Given the description of an element on the screen output the (x, y) to click on. 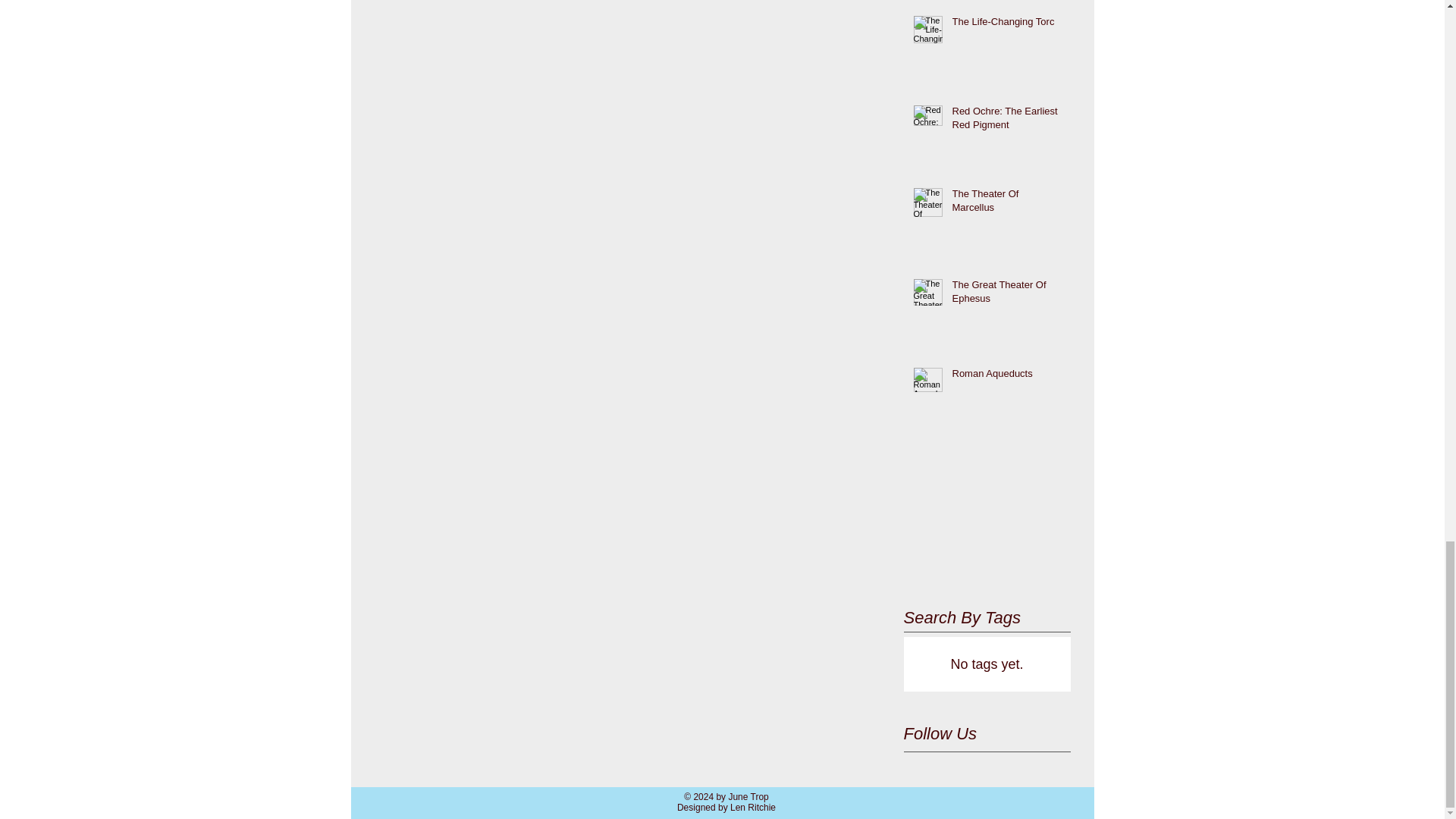
The Theater Of Marcellus (1006, 203)
The Life-Changing Torc (1006, 25)
The Great Theater Of Ephesus (1006, 295)
Red Ochre: The Earliest Red Pigment (1006, 121)
Roman Aqueducts (1006, 376)
